Given the description of an element on the screen output the (x, y) to click on. 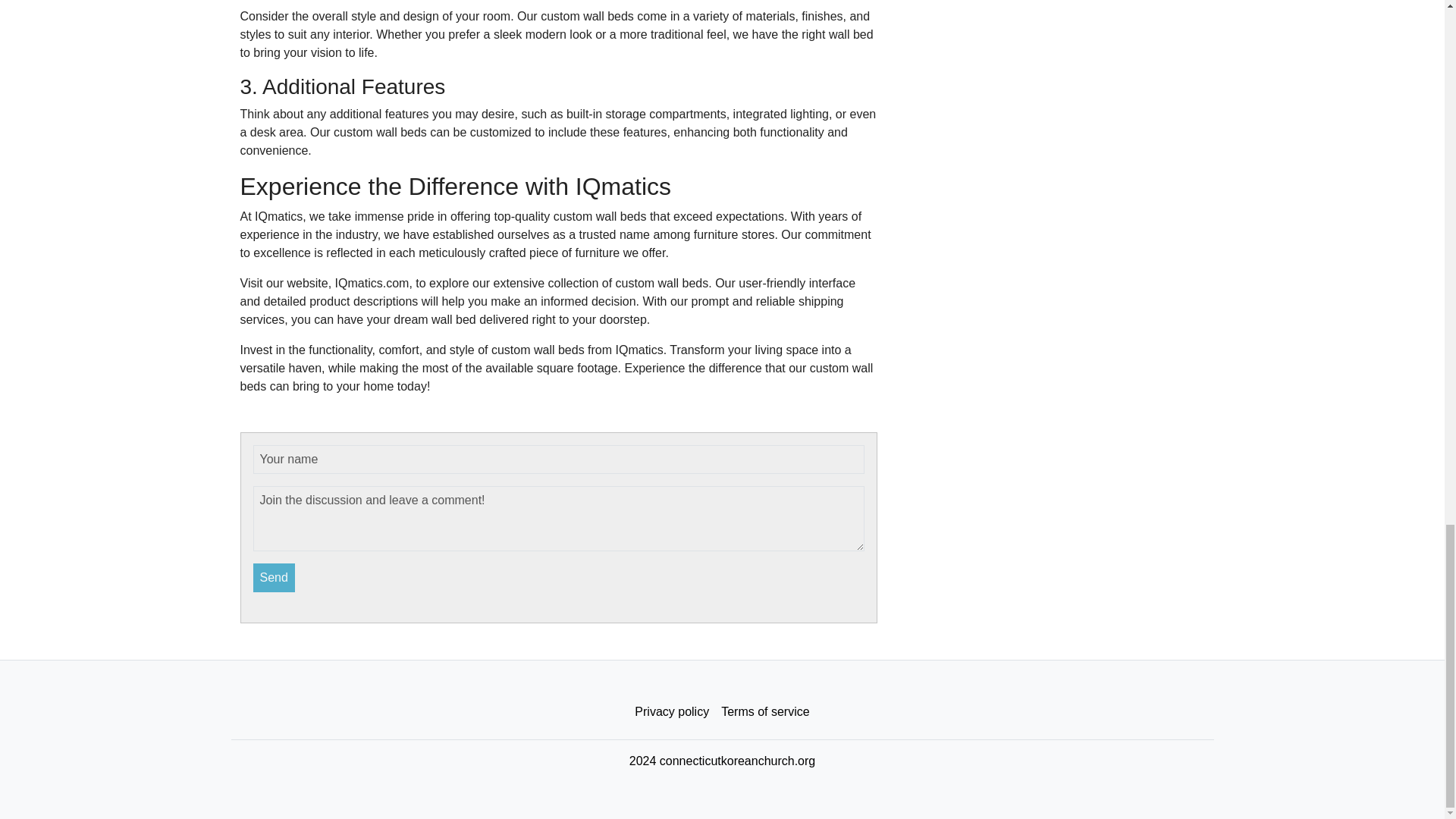
Privacy policy (671, 711)
Send (274, 577)
Terms of service (764, 711)
Send (274, 577)
